Given the description of an element on the screen output the (x, y) to click on. 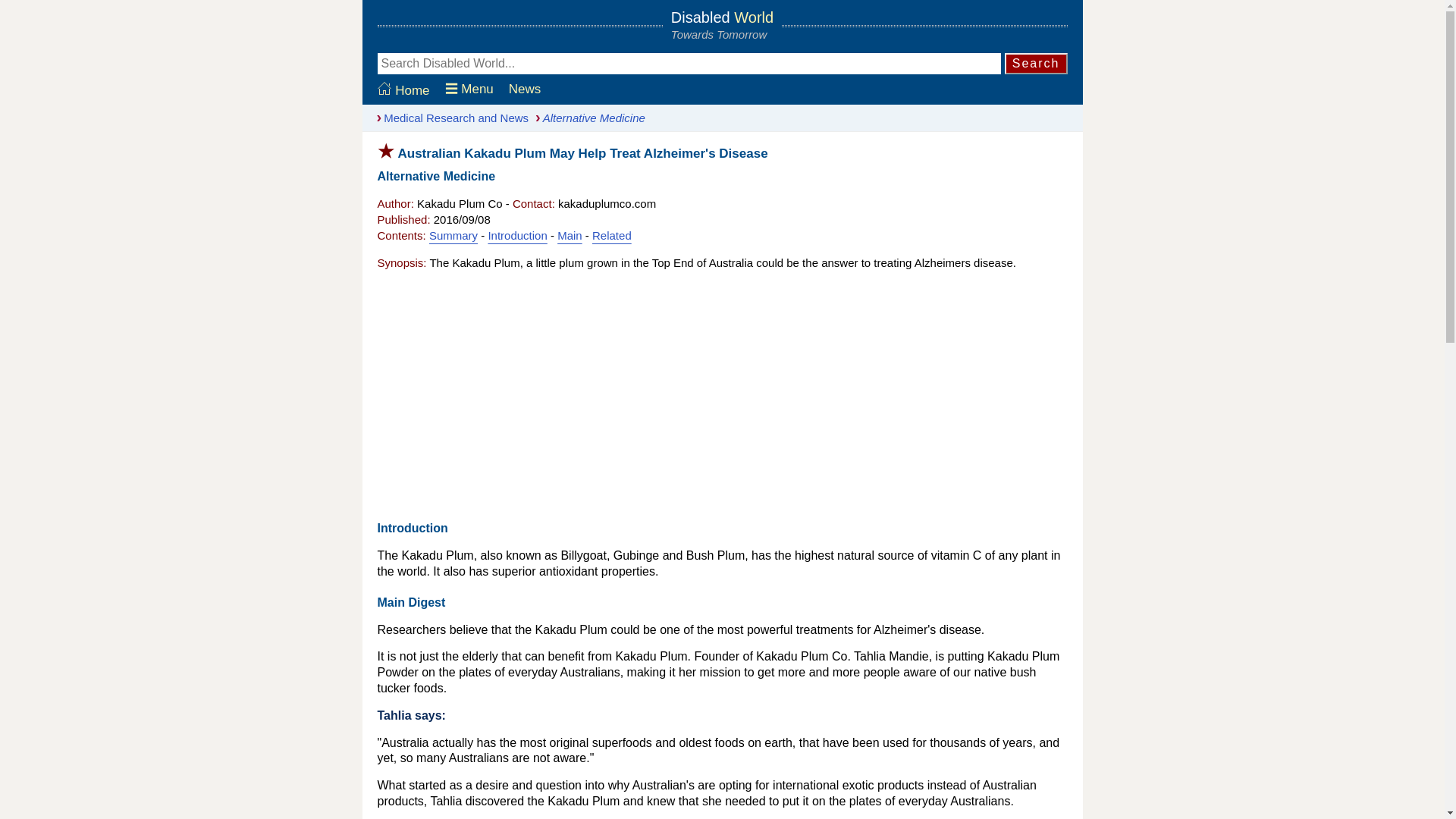
News (524, 89)
Summary (453, 235)
Main (569, 235)
Go to Medical Research and News (449, 117)
Go to Alternative Medicine (586, 117)
Introduction (517, 235)
Home (403, 90)
Alternative Medicine (586, 117)
Medical Research and News (449, 117)
Related (611, 235)
